Given the description of an element on the screen output the (x, y) to click on. 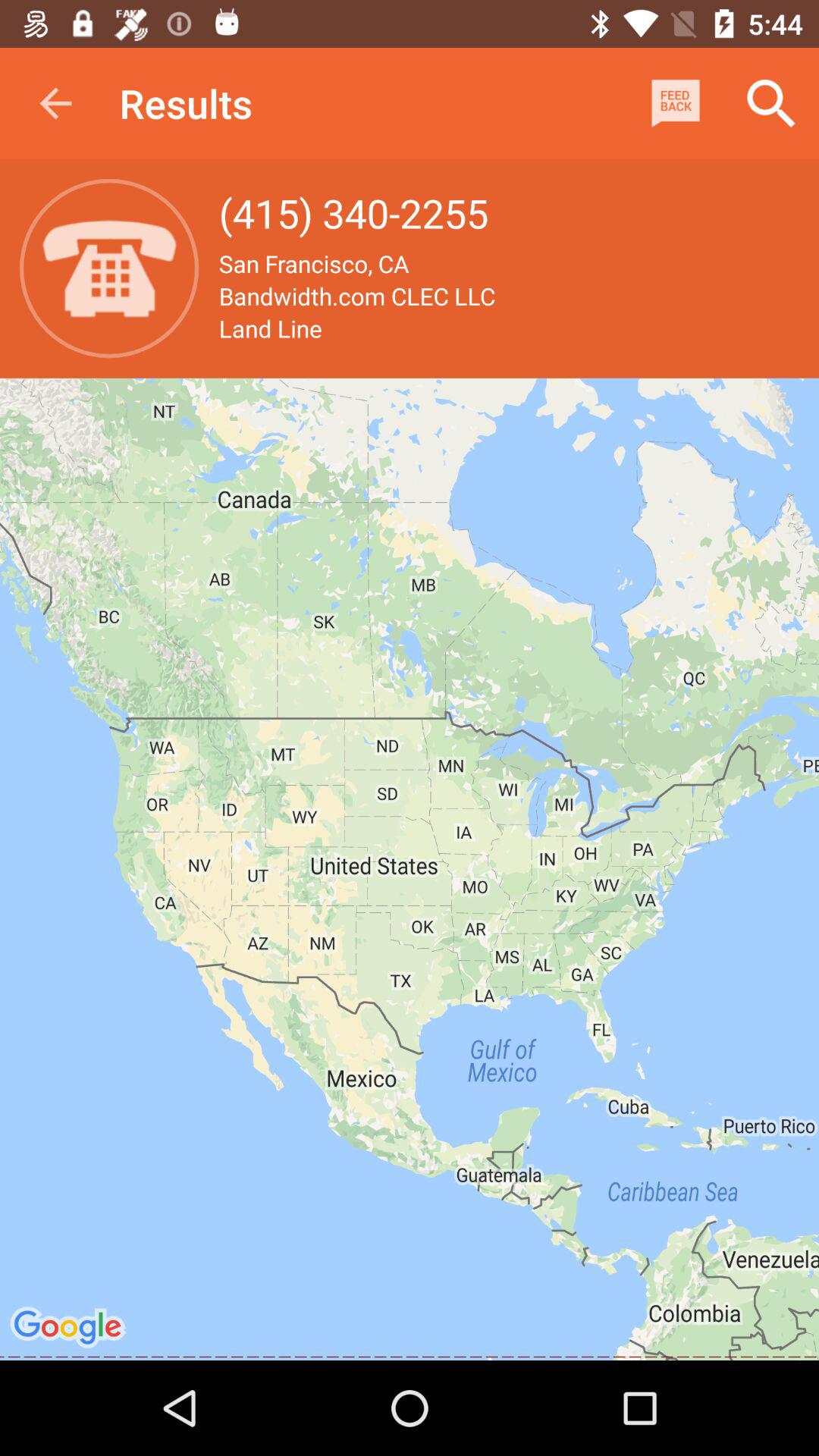
open the app next to the results item (675, 103)
